Given the description of an element on the screen output the (x, y) to click on. 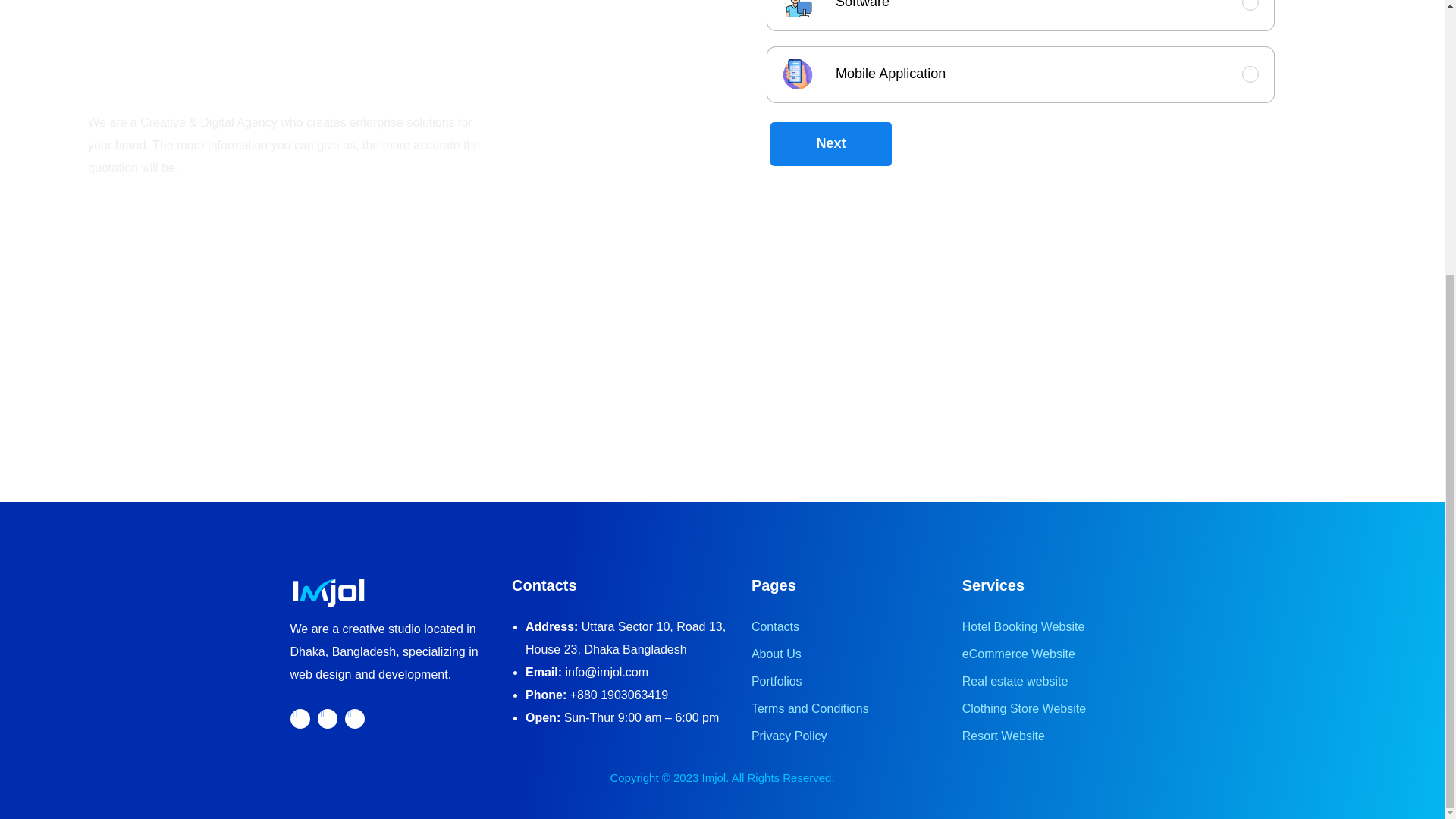
Imjol-logo-white (327, 593)
